Given the description of an element on the screen output the (x, y) to click on. 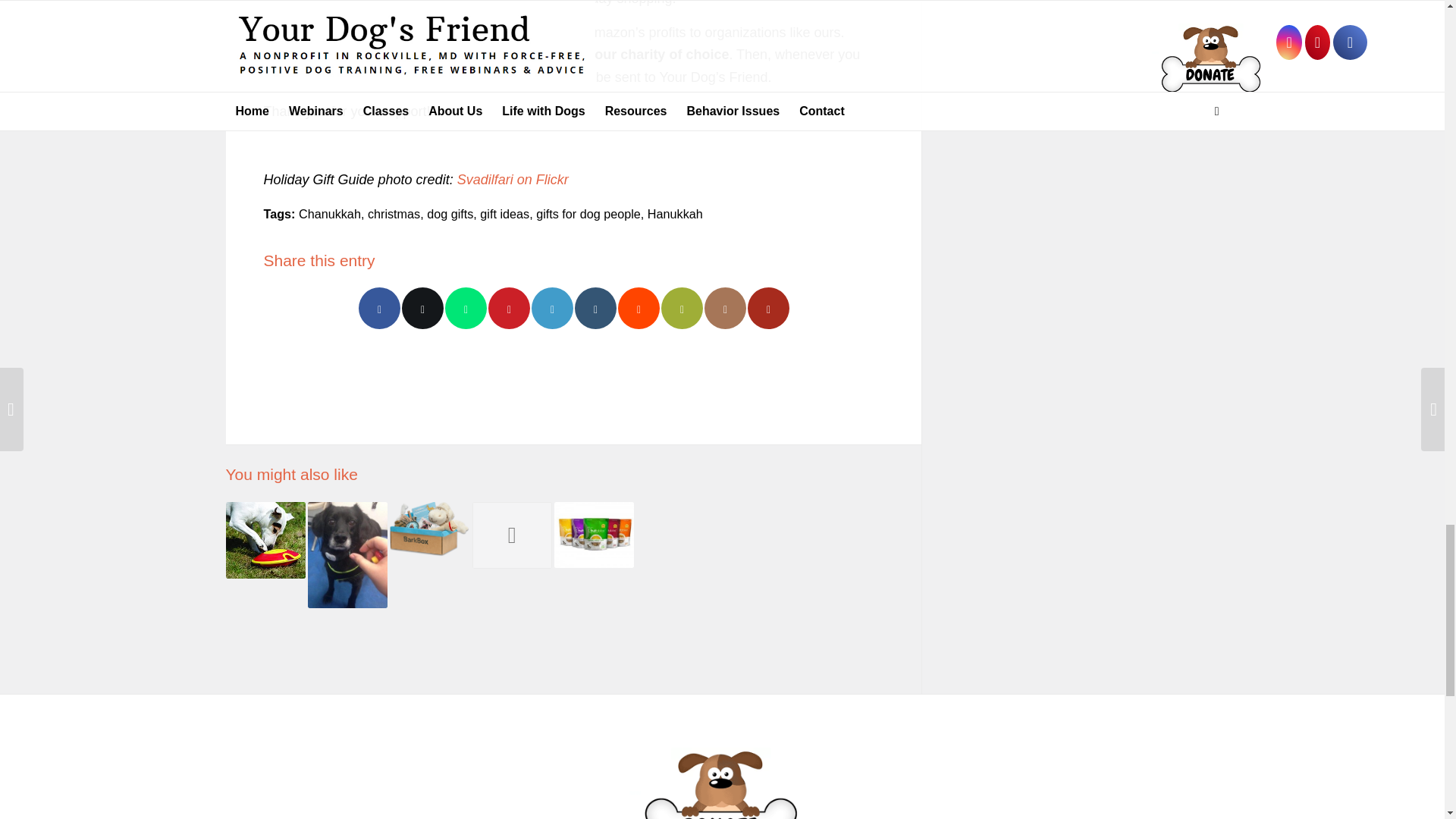
Gift Ideas for Dog Lovers: Fun Dog Puzzles (265, 540)
